Given the description of an element on the screen output the (x, y) to click on. 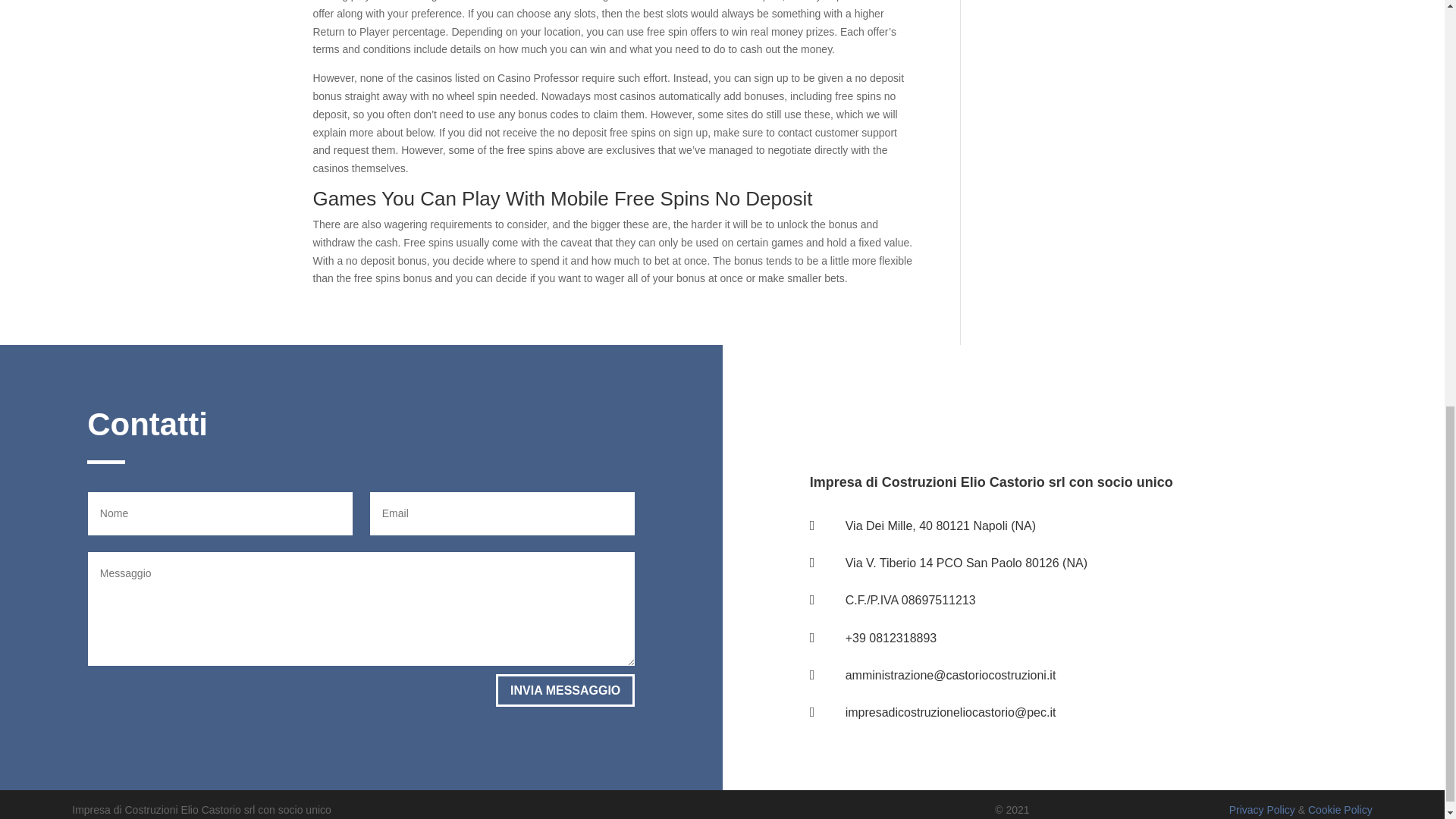
Privacy Policy (1261, 809)
INVIA MESSAGGIO (565, 690)
Cookie Policy (1340, 809)
